Given the description of an element on the screen output the (x, y) to click on. 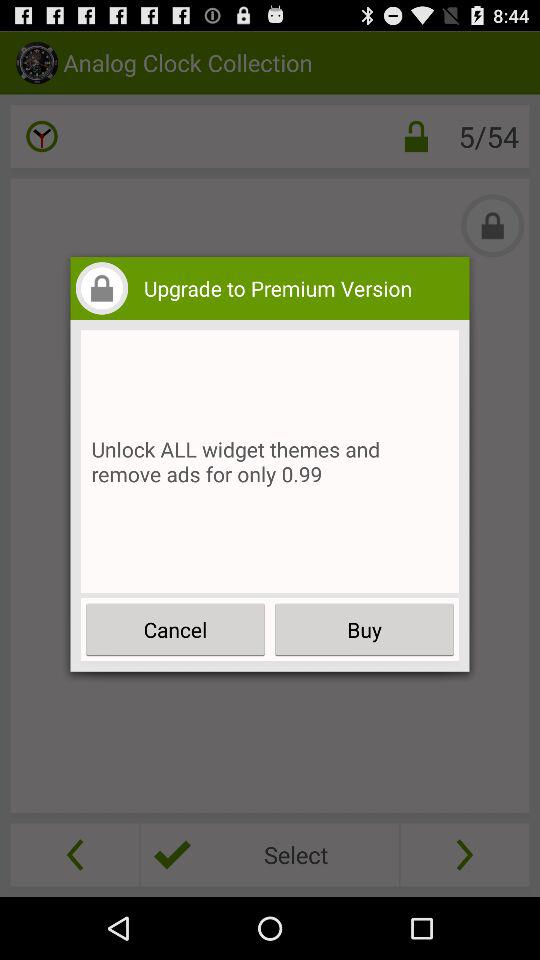
turn on icon to the left of buy (175, 629)
